Given the description of an element on the screen output the (x, y) to click on. 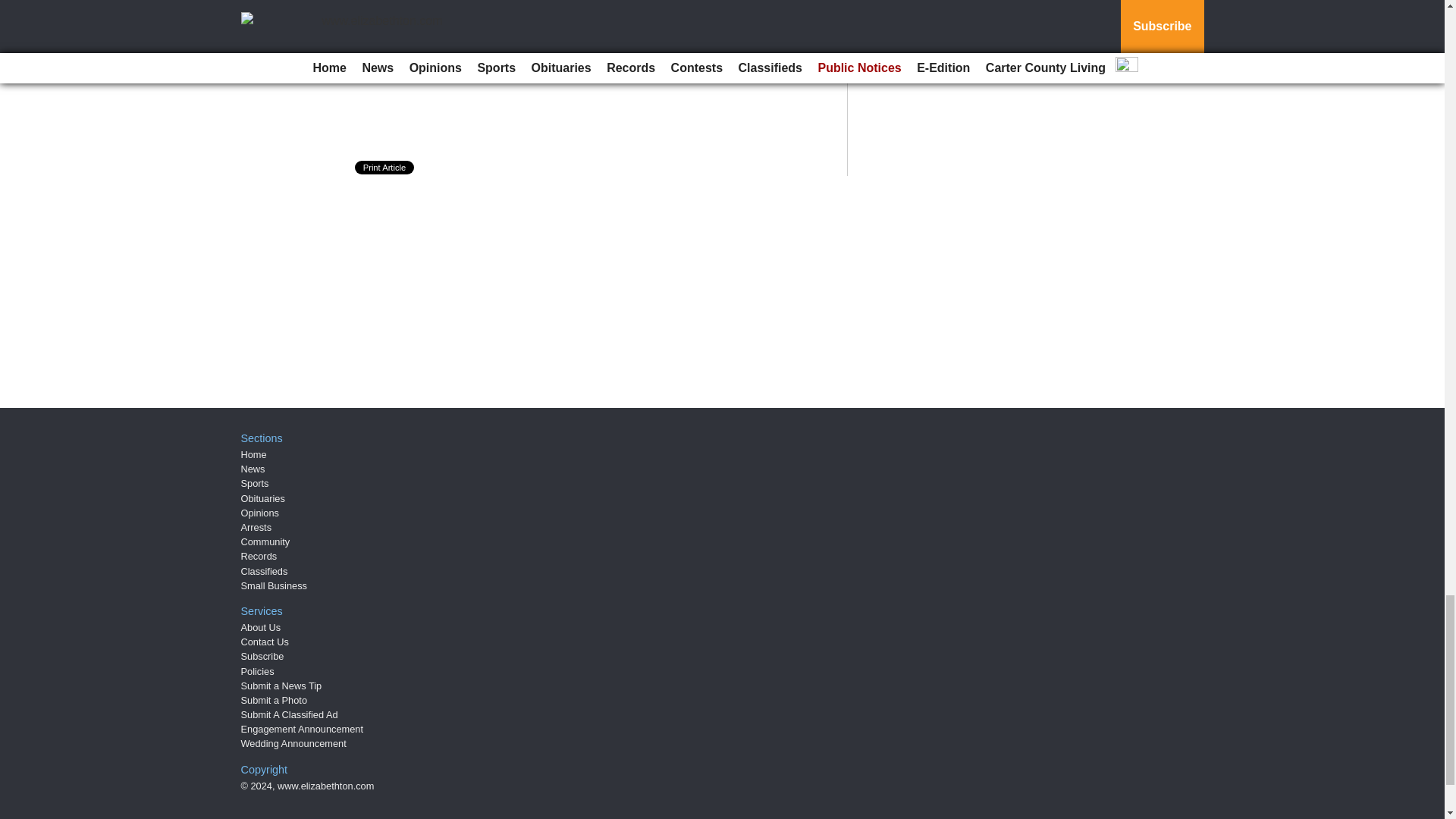
We will all be judged by the Lamb of God (496, 44)
We will all be judged by the Lamb of God (496, 44)
Print Article (384, 167)
